Given the description of an element on the screen output the (x, y) to click on. 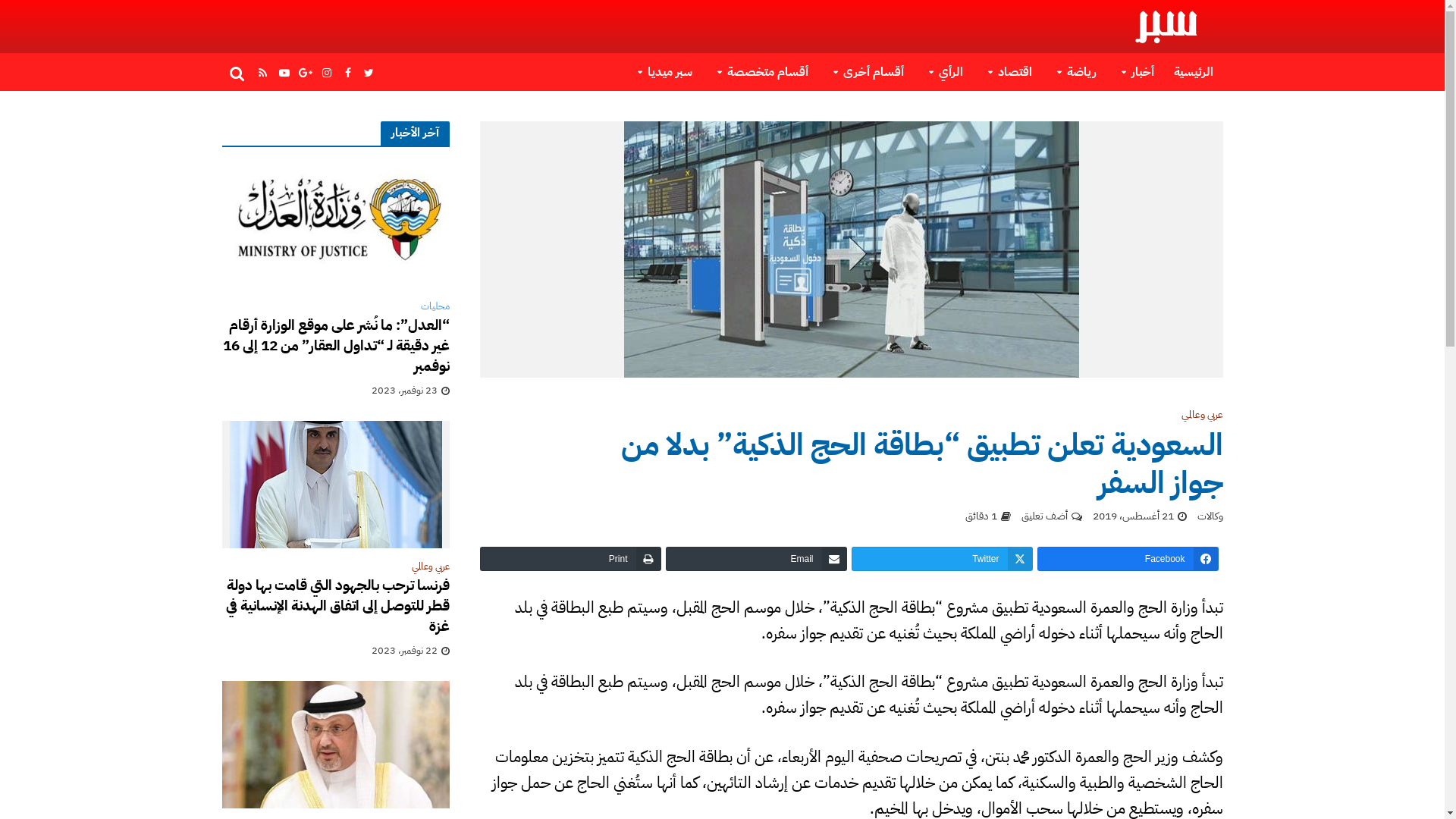
Facebook Element type: text (1127, 558)
Twitter Element type: text (941, 558)
Email Element type: text (756, 558)
Print Element type: text (569, 558)
